Given the description of an element on the screen output the (x, y) to click on. 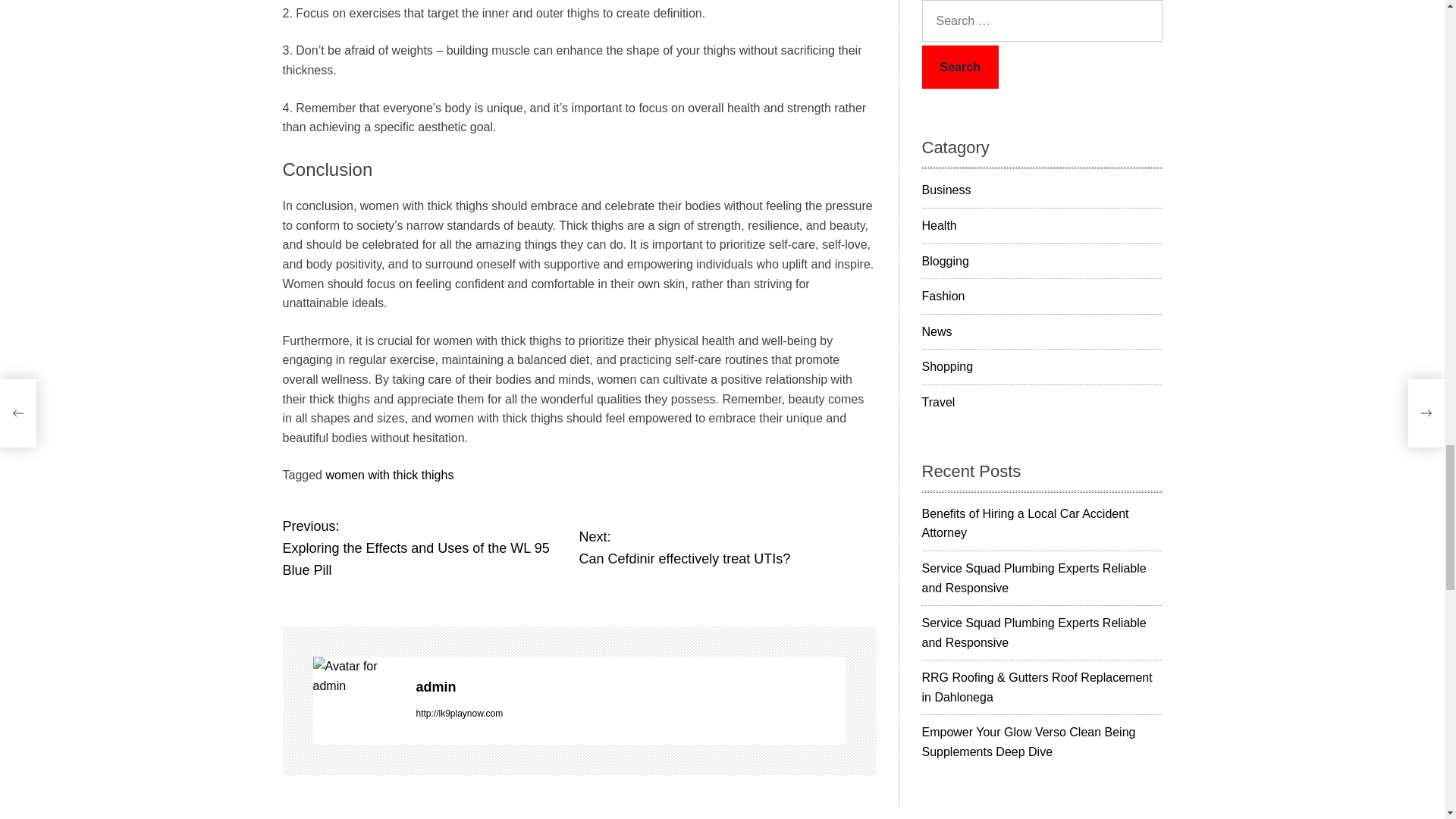
admin (629, 687)
admin (356, 675)
